Given the description of an element on the screen output the (x, y) to click on. 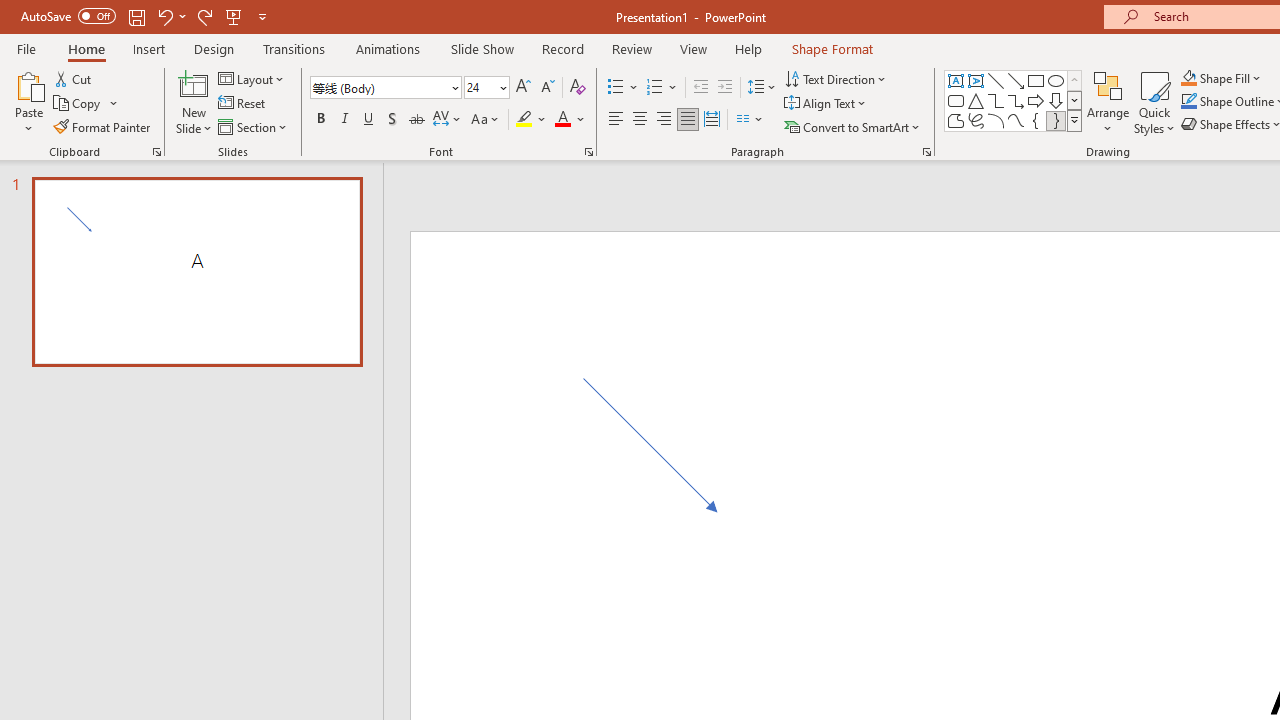
Office Clipboard... (156, 151)
Distributed (712, 119)
Convert to SmartArt (853, 126)
Strikethrough (416, 119)
Font... (588, 151)
Line (995, 80)
Section (254, 126)
Text Box (955, 80)
Arrow: Right (1035, 100)
Paragraph... (926, 151)
